Given the description of an element on the screen output the (x, y) to click on. 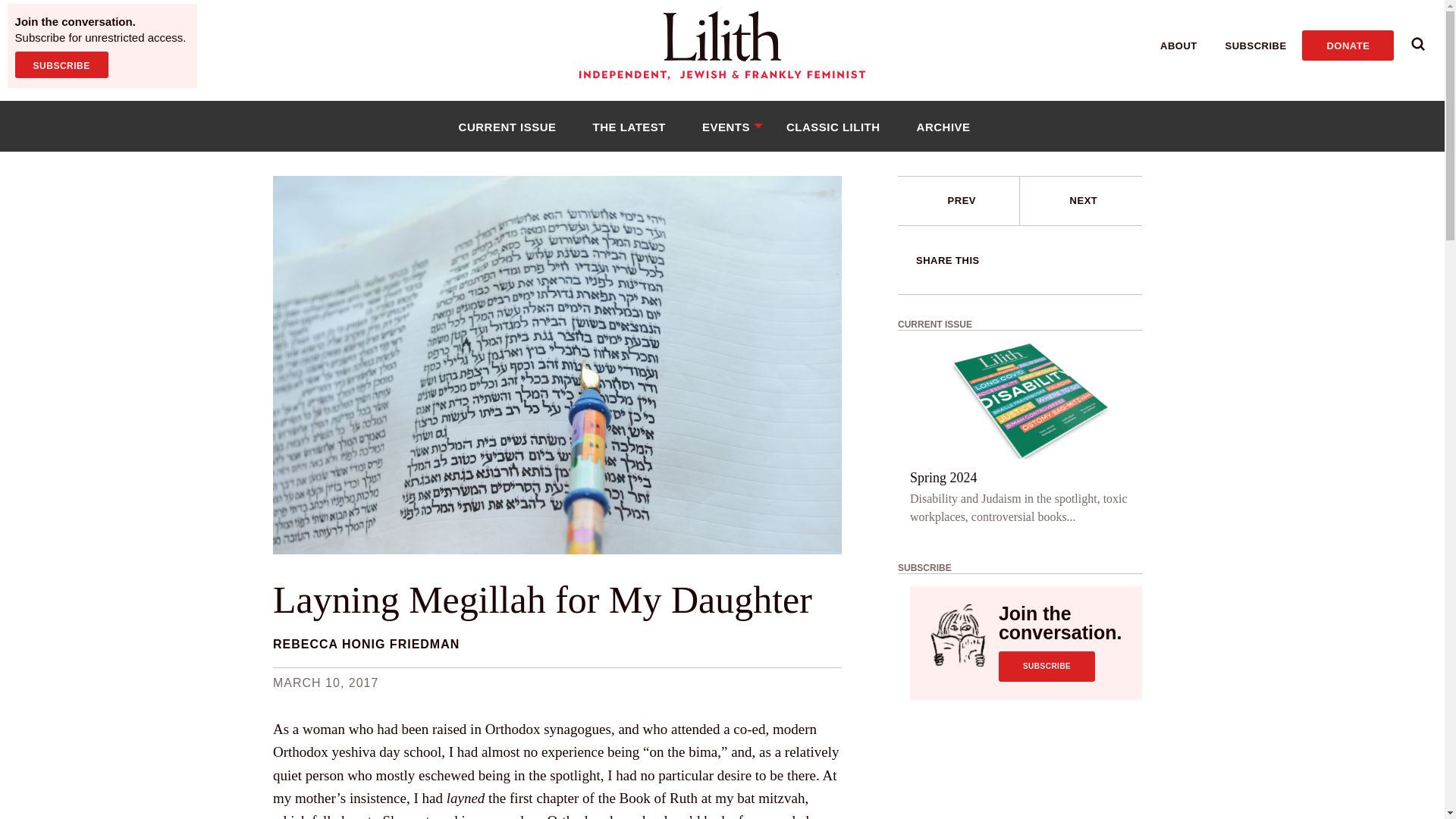
SUBSCRIBE (60, 64)
CLASSIC LILITH (833, 126)
ABOUT (1178, 45)
SUBSCRIBE (1255, 45)
SUBSCRIBE (1046, 666)
EVENTS (726, 126)
PREV (959, 200)
NEXT (1080, 200)
ARCHIVE (943, 126)
Posts by Rebecca Honig Friedman (366, 644)
PREV (961, 200)
NEXT (1083, 200)
CURRENT ISSUE (507, 126)
REBECCA HONIG FRIEDMAN (366, 644)
DONATE (1347, 45)
